Given the description of an element on the screen output the (x, y) to click on. 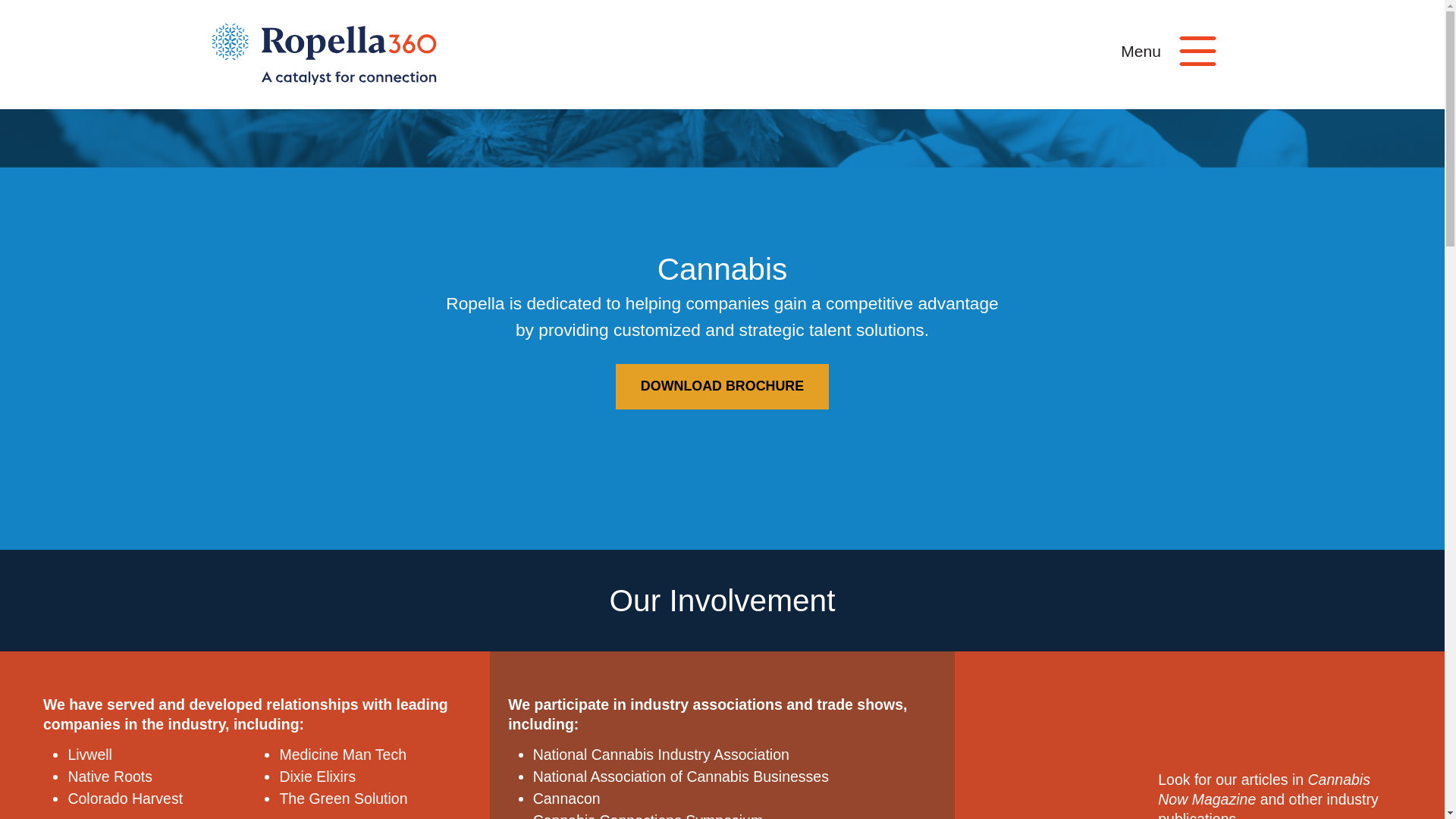
Livwell (89, 754)
Dixie Elixirs (317, 776)
Colorado Harvest (124, 798)
The Green Solution (343, 798)
Native Roots (109, 776)
DOWNLOAD BROCHURE (721, 386)
Medicine Man Tech (342, 754)
National Cannabis Industry Association (660, 754)
